Given the description of an element on the screen output the (x, y) to click on. 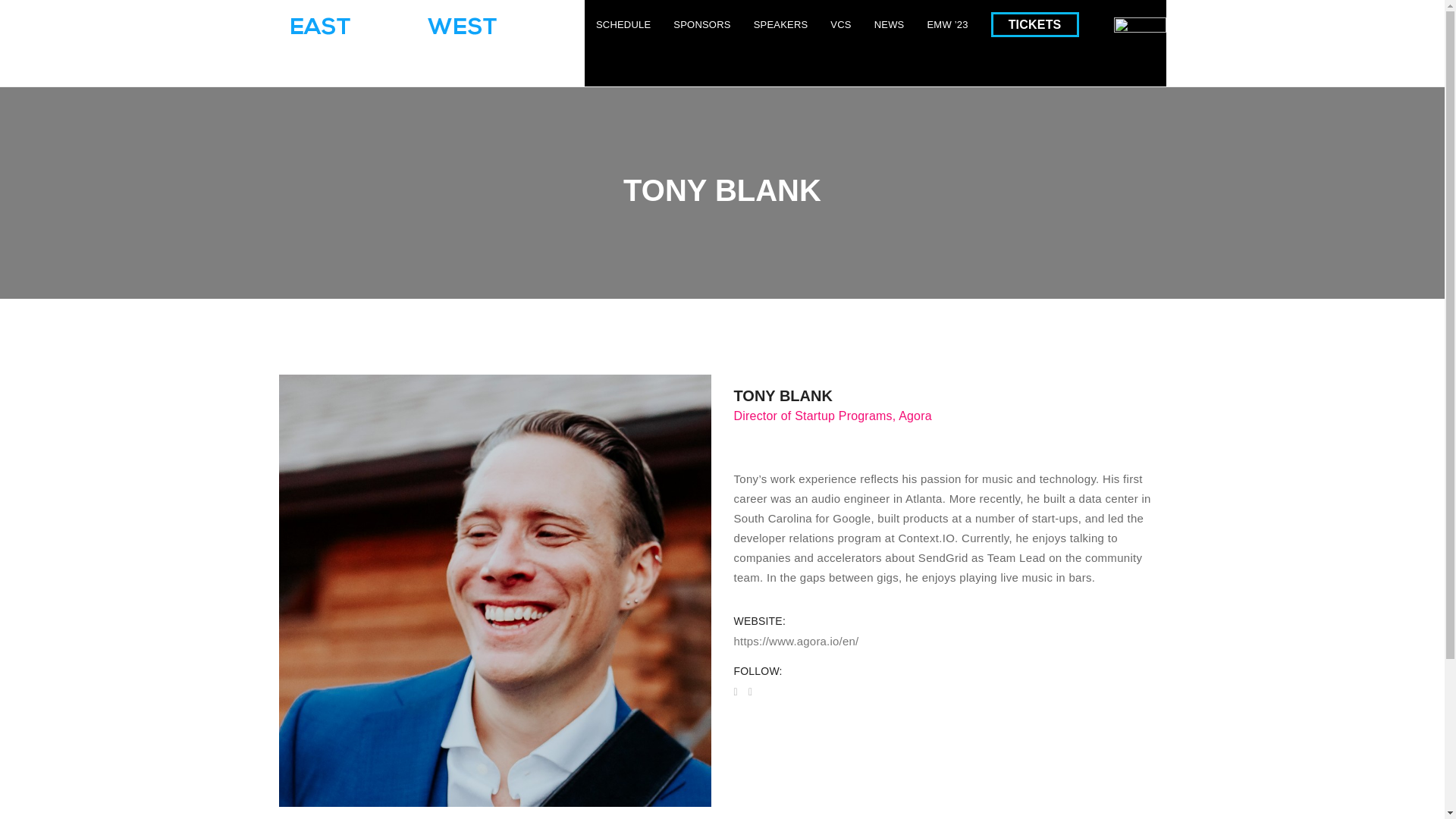
SPONSORS (701, 24)
TICKETS (1040, 25)
SCHEDULE (622, 24)
SPEAKERS (781, 24)
